Given the description of an element on the screen output the (x, y) to click on. 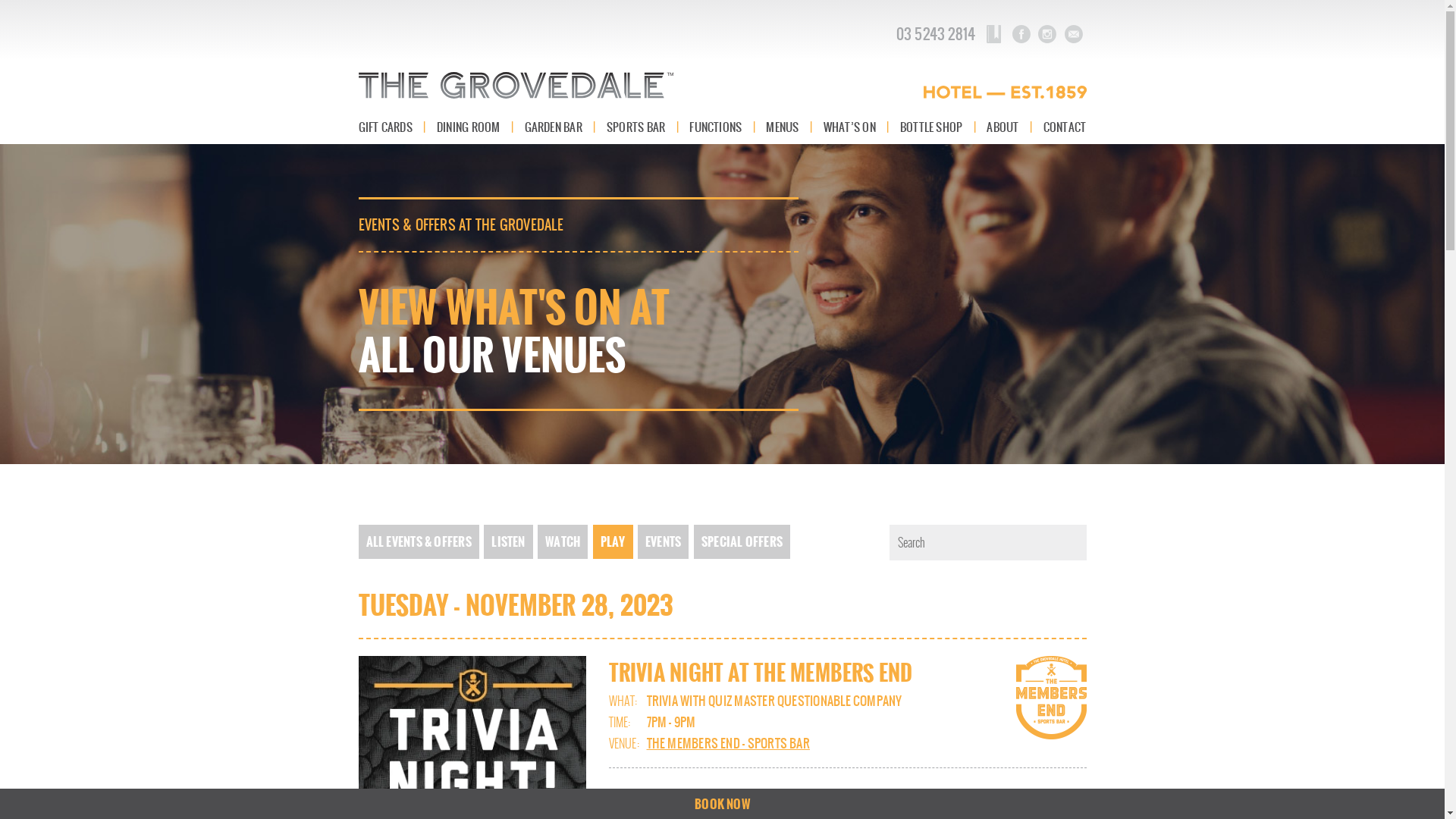
| Element type: text (1030, 126)
| Element type: text (594, 126)
PLAY Element type: text (613, 541)
FUNCTIONS Element type: text (715, 126)
| Element type: text (512, 126)
WATCH Element type: text (562, 541)
LISTEN Element type: text (507, 541)
CONTACT Element type: text (1064, 126)
ABOUT Element type: text (1002, 126)
03 5243 2814 Element type: text (935, 33)
GIFT CARDS Element type: text (384, 126)
MENUS Element type: text (781, 126)
DINING ROOM Element type: text (468, 126)
| Element type: text (424, 126)
SPORTS BAR Element type: text (635, 126)
BOTTLE SHOP Element type: text (931, 126)
EVENTS Element type: text (662, 541)
| Element type: text (887, 126)
| Element type: text (677, 126)
| Element type: text (974, 126)
ALL EVENTS & OFFERS Element type: text (417, 541)
SPECIAL OFFERS Element type: text (741, 541)
| Element type: text (810, 126)
GARDEN BAR Element type: text (553, 126)
THE MEMBERS END - SPORTS BAR Element type: text (727, 743)
| Element type: text (754, 126)
